Given the description of an element on the screen output the (x, y) to click on. 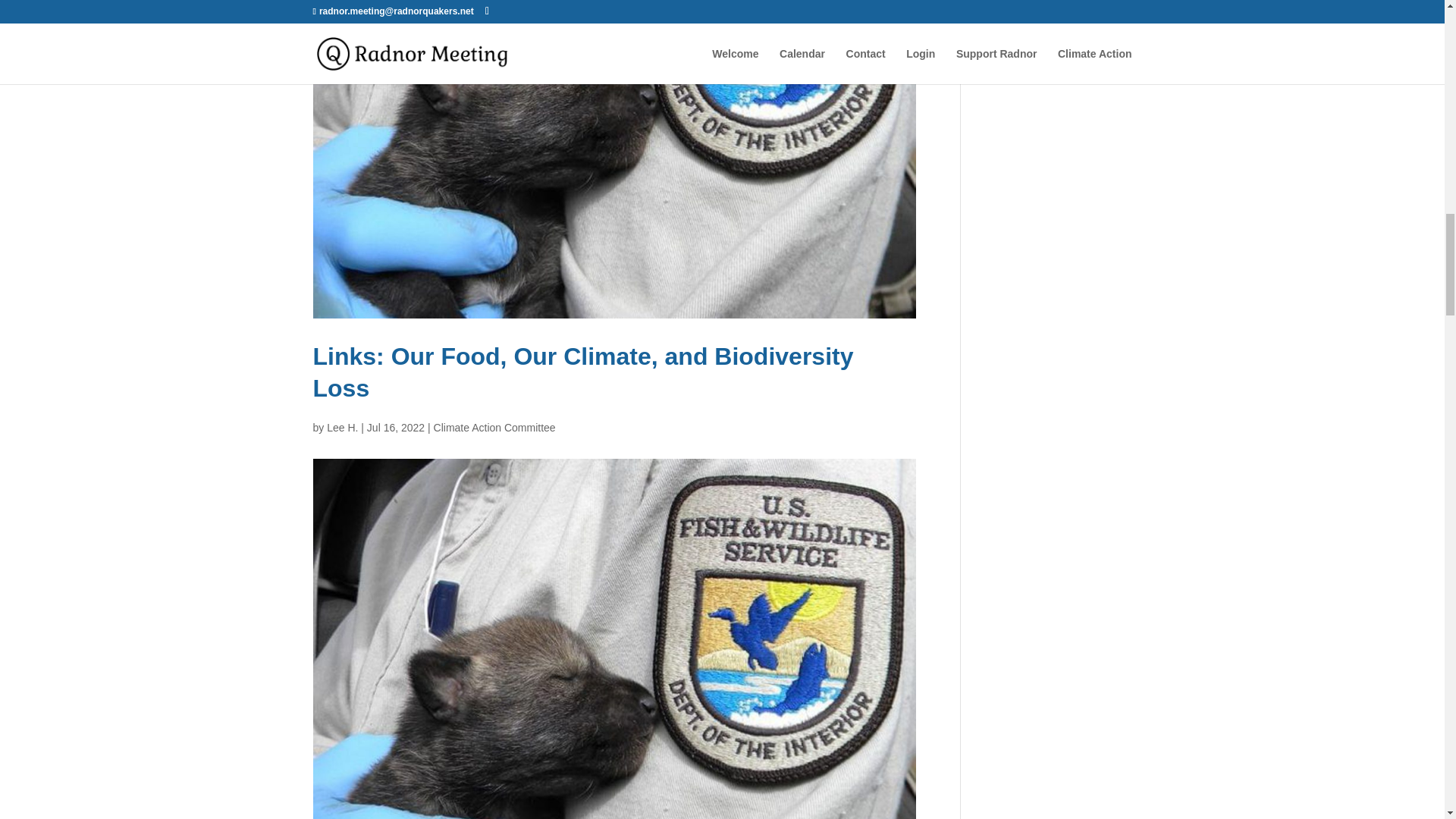
Climate Action Committee (494, 427)
Posts by Lee H. (342, 427)
Lee H. (342, 427)
Links: Our Food, Our Climate, and Biodiversity Loss (583, 372)
